Given the description of an element on the screen output the (x, y) to click on. 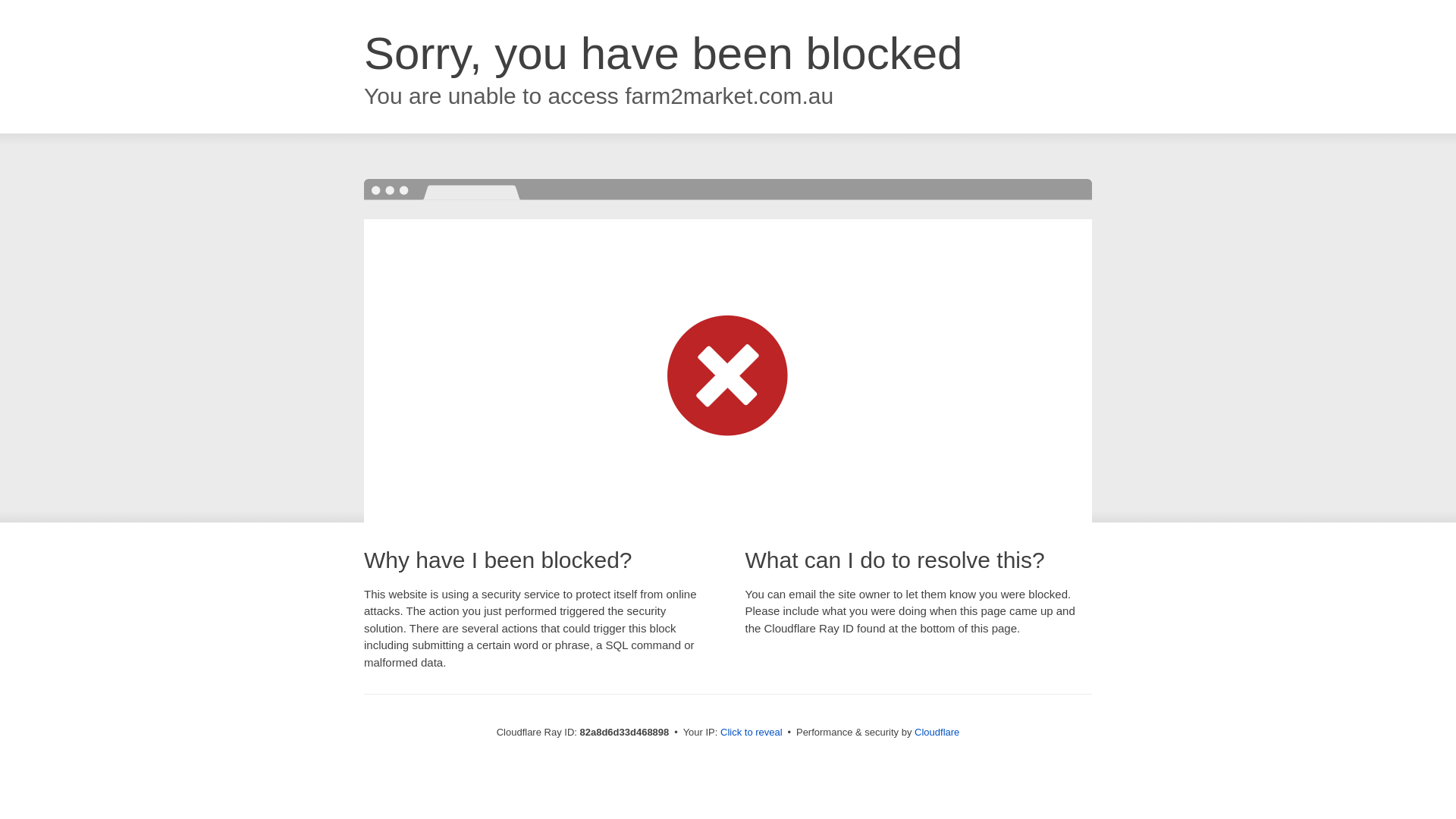
Cloudflare Element type: text (936, 731)
Click to reveal Element type: text (751, 732)
